Given the description of an element on the screen output the (x, y) to click on. 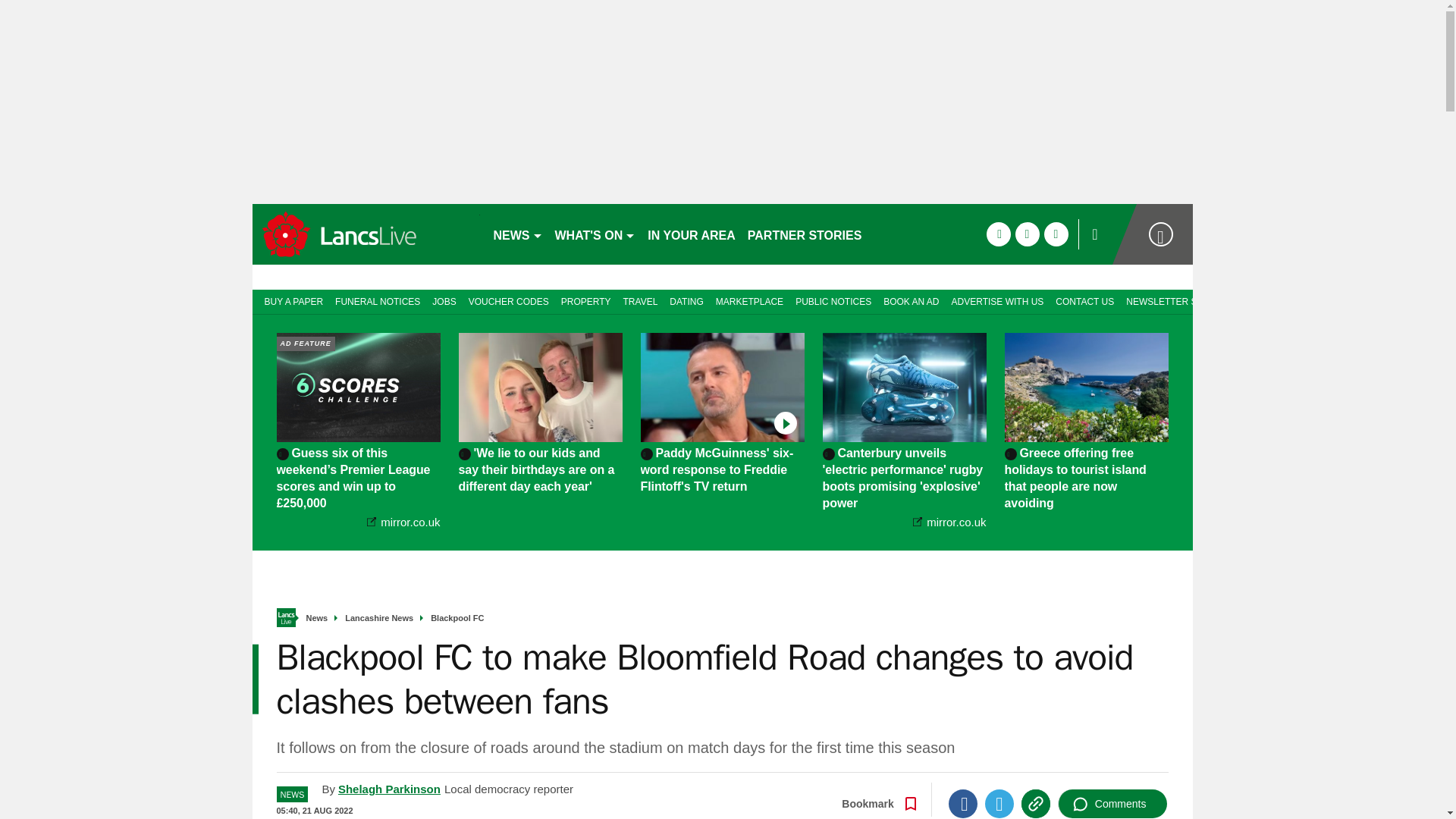
instagram (1055, 233)
Comments (1112, 803)
facebook (997, 233)
ADVERTISE WITH US (996, 300)
DATING (686, 300)
VOUCHER CODES (508, 300)
BUY A PAPER (290, 300)
JOBS (443, 300)
WHAT'S ON (595, 233)
PUBLIC NOTICES (833, 300)
